Given the description of an element on the screen output the (x, y) to click on. 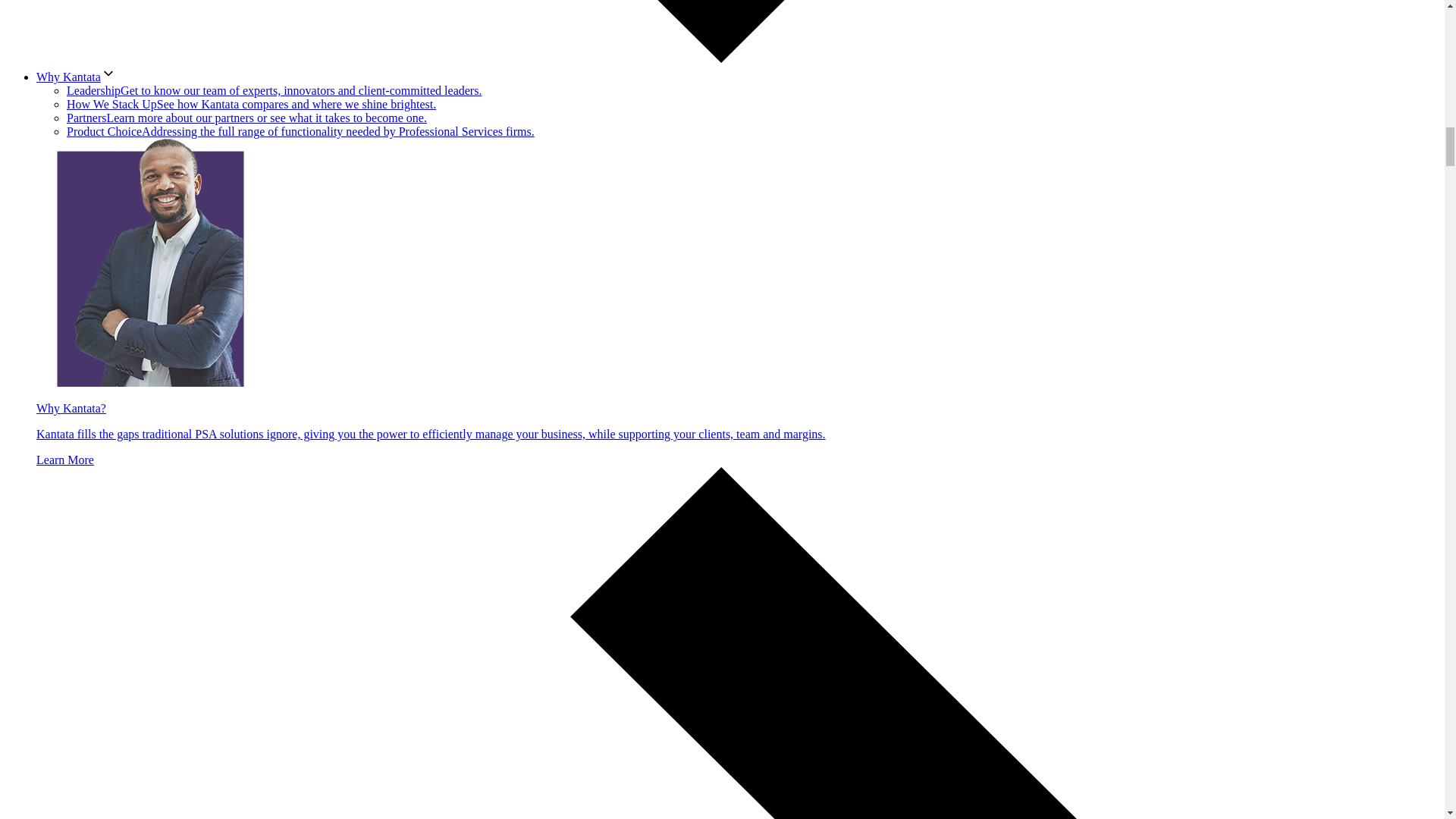
Why Kantata (76, 76)
